Given the description of an element on the screen output the (x, y) to click on. 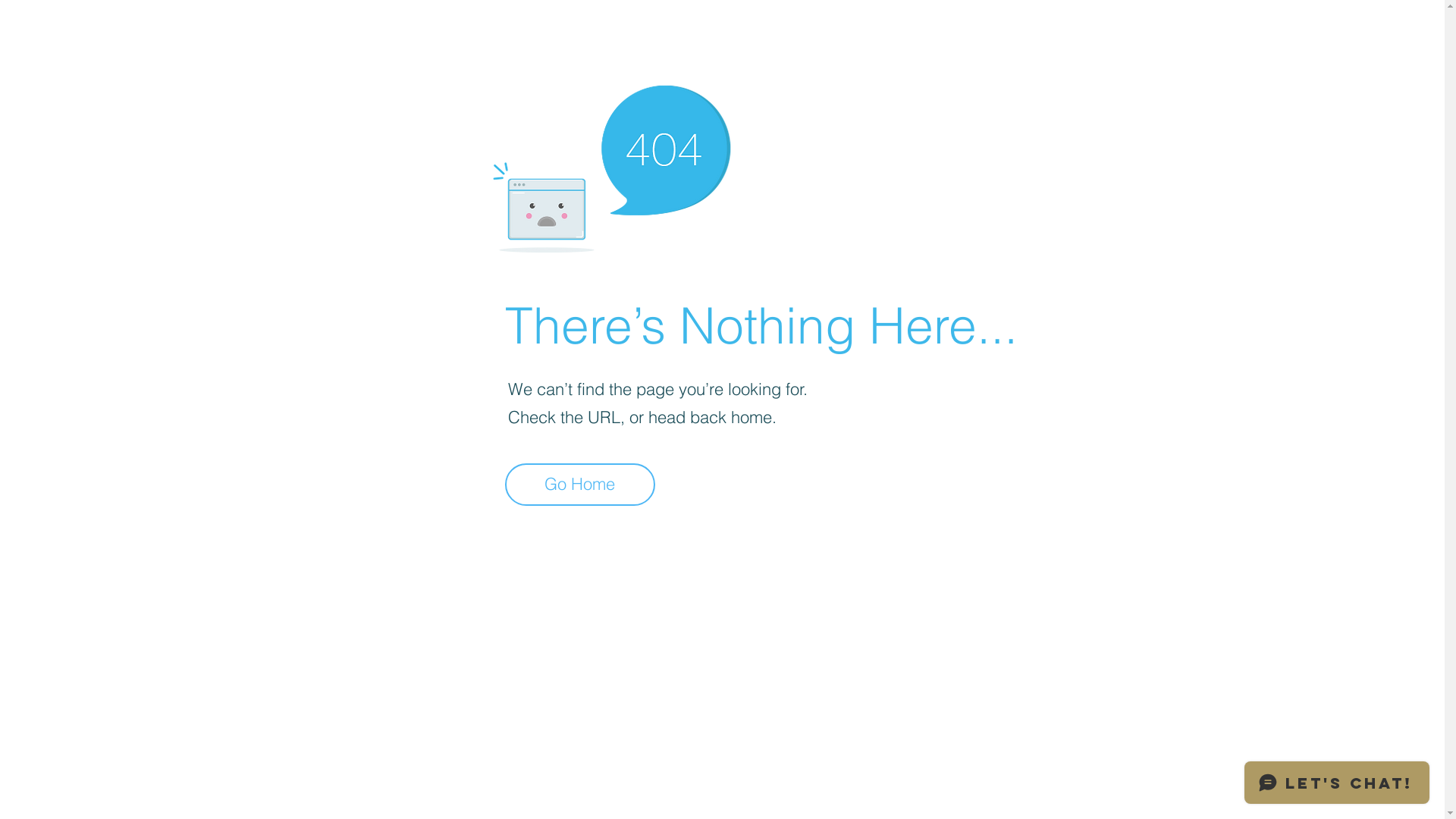
Go Home Element type: text (580, 484)
404-icon_2.png Element type: hover (610, 164)
